Given the description of an element on the screen output the (x, y) to click on. 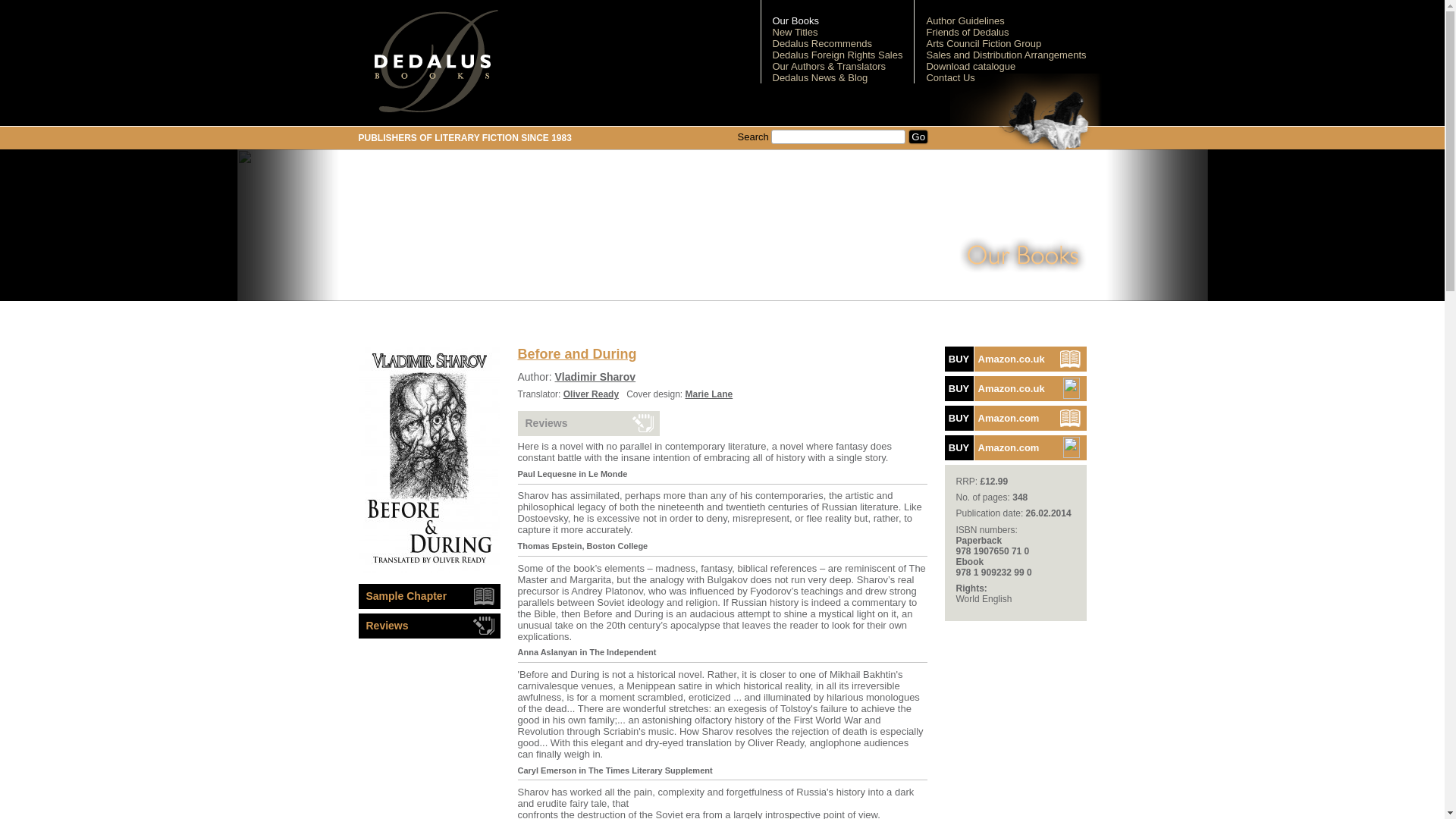
Friends of Dedalus (967, 31)
Go (917, 136)
Dedalus Foreign Rights Sales (836, 54)
Go (917, 136)
Our Books (794, 20)
Download catalogue (970, 66)
Arts Council Fiction Group (983, 43)
New Titles (793, 31)
Reviews (587, 423)
Marie Lane (709, 394)
Sales and Distribution Arrangements (1006, 54)
Author Guidelines (965, 20)
Before and During (1015, 388)
Sample Chapter (428, 459)
